Given the description of an element on the screen output the (x, y) to click on. 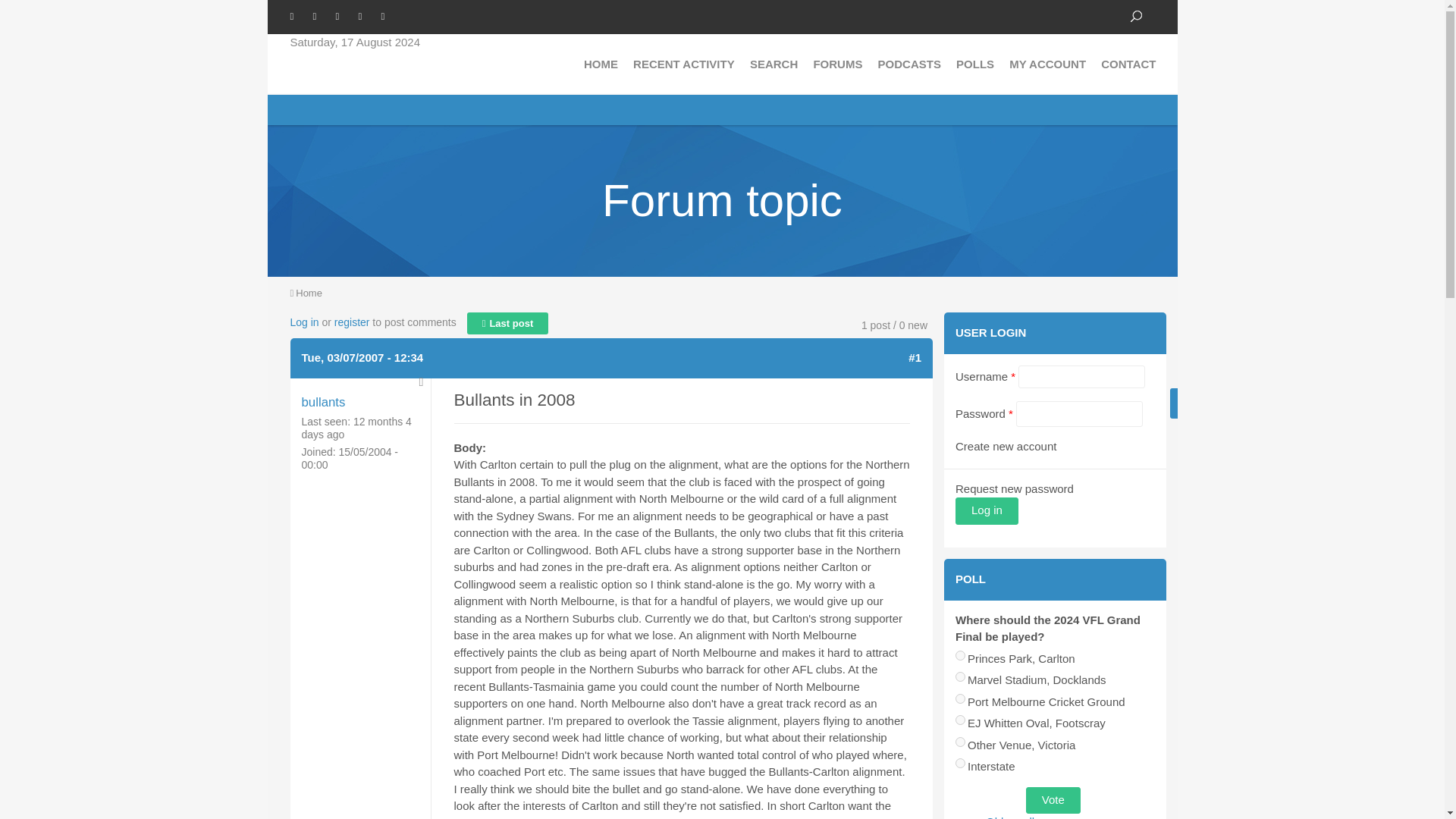
822 (960, 697)
Log in (986, 510)
RSS (388, 14)
FORUMS (836, 64)
View the list of polls on this site. (1013, 816)
Log in (303, 322)
Last post (507, 323)
Request new password (1054, 482)
register (351, 322)
Search (1135, 15)
